Given the description of an element on the screen output the (x, y) to click on. 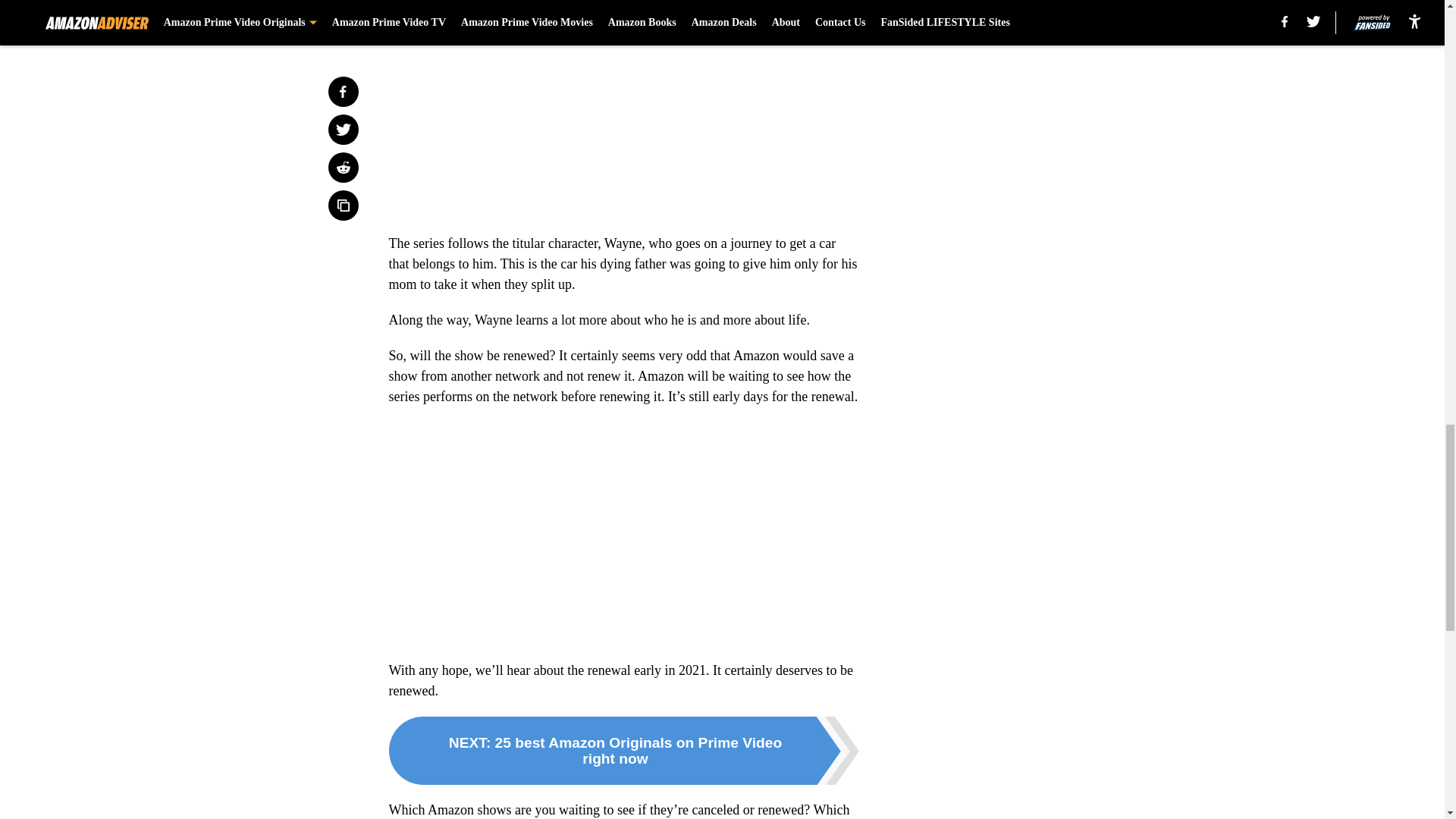
NEXT: 25 best Amazon Originals on Prime Video right now (623, 750)
